Given the description of an element on the screen output the (x, y) to click on. 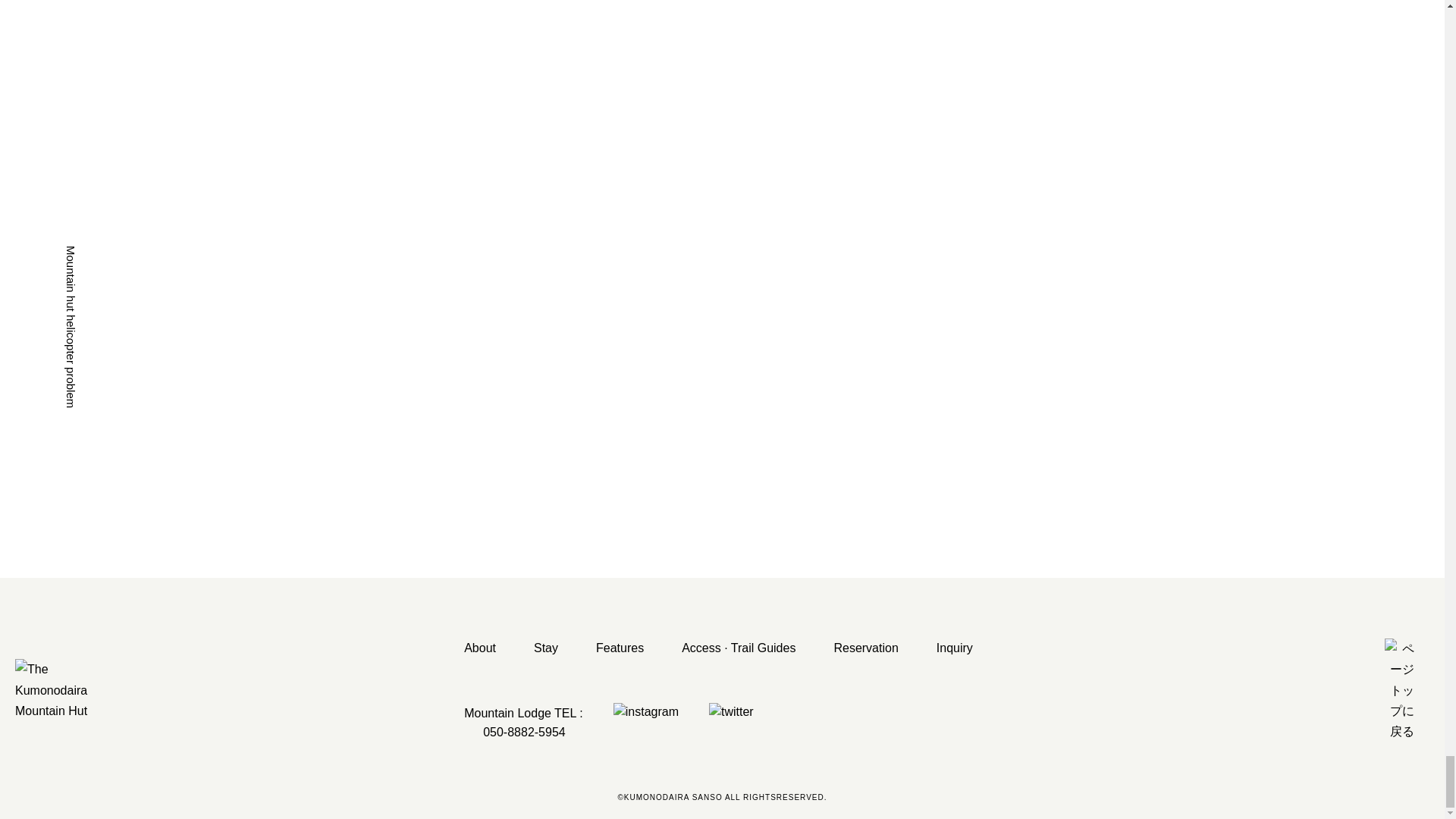
Features (619, 648)
Reservation (865, 648)
Stay (545, 648)
Inquiry (954, 648)
About (480, 648)
050-8882-5954 (515, 732)
